Given the description of an element on the screen output the (x, y) to click on. 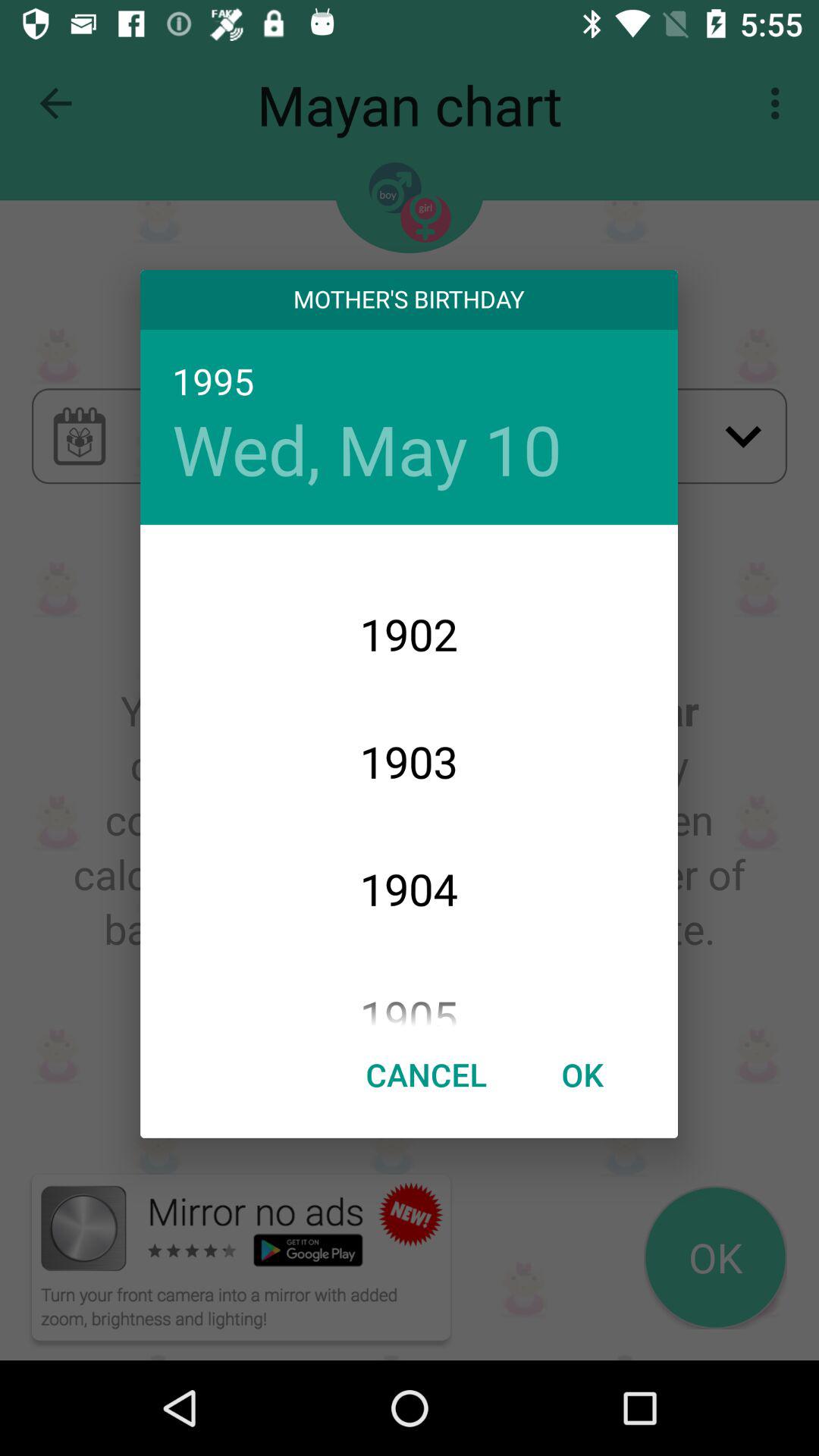
flip until the ok item (582, 1074)
